Given the description of an element on the screen output the (x, y) to click on. 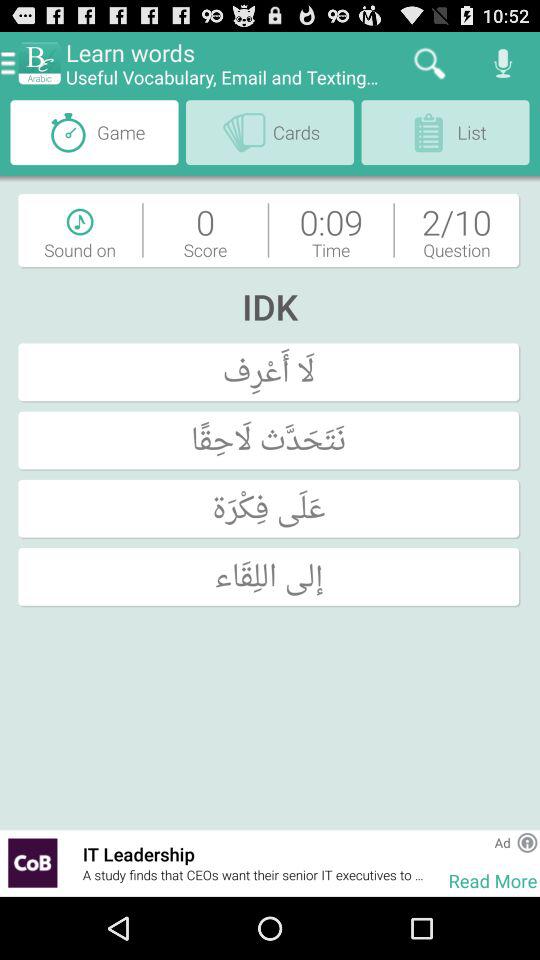
scroll until read more item (492, 880)
